Given the description of an element on the screen output the (x, y) to click on. 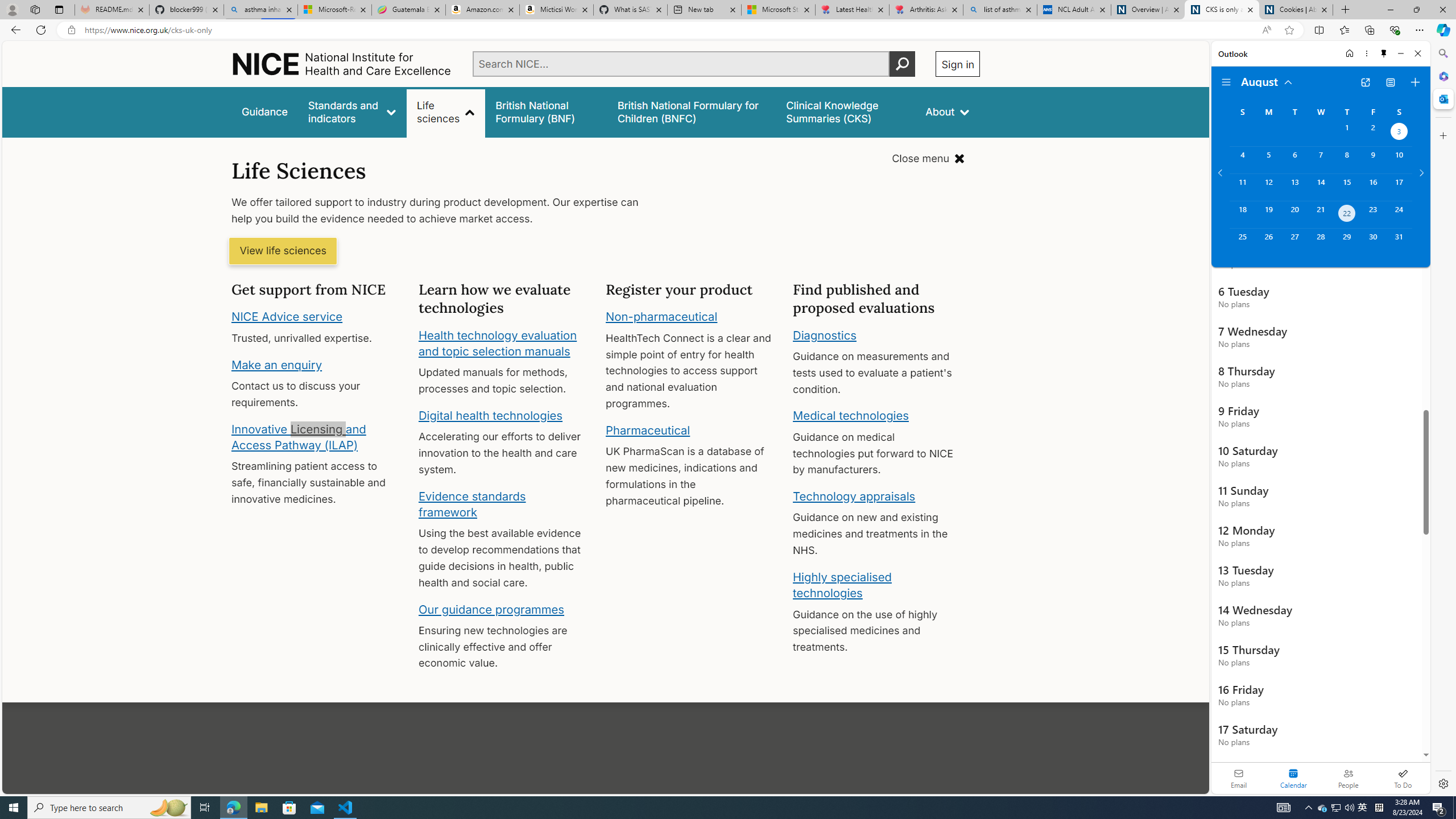
Sunday, August 11, 2024.  (1242, 186)
Sunday, August 18, 2024.  (1242, 214)
Guidance (264, 111)
Thursday, August 29, 2024.  (1346, 241)
Close menu (927, 159)
false (845, 111)
Evidence standards framework (471, 503)
